Given the description of an element on the screen output the (x, y) to click on. 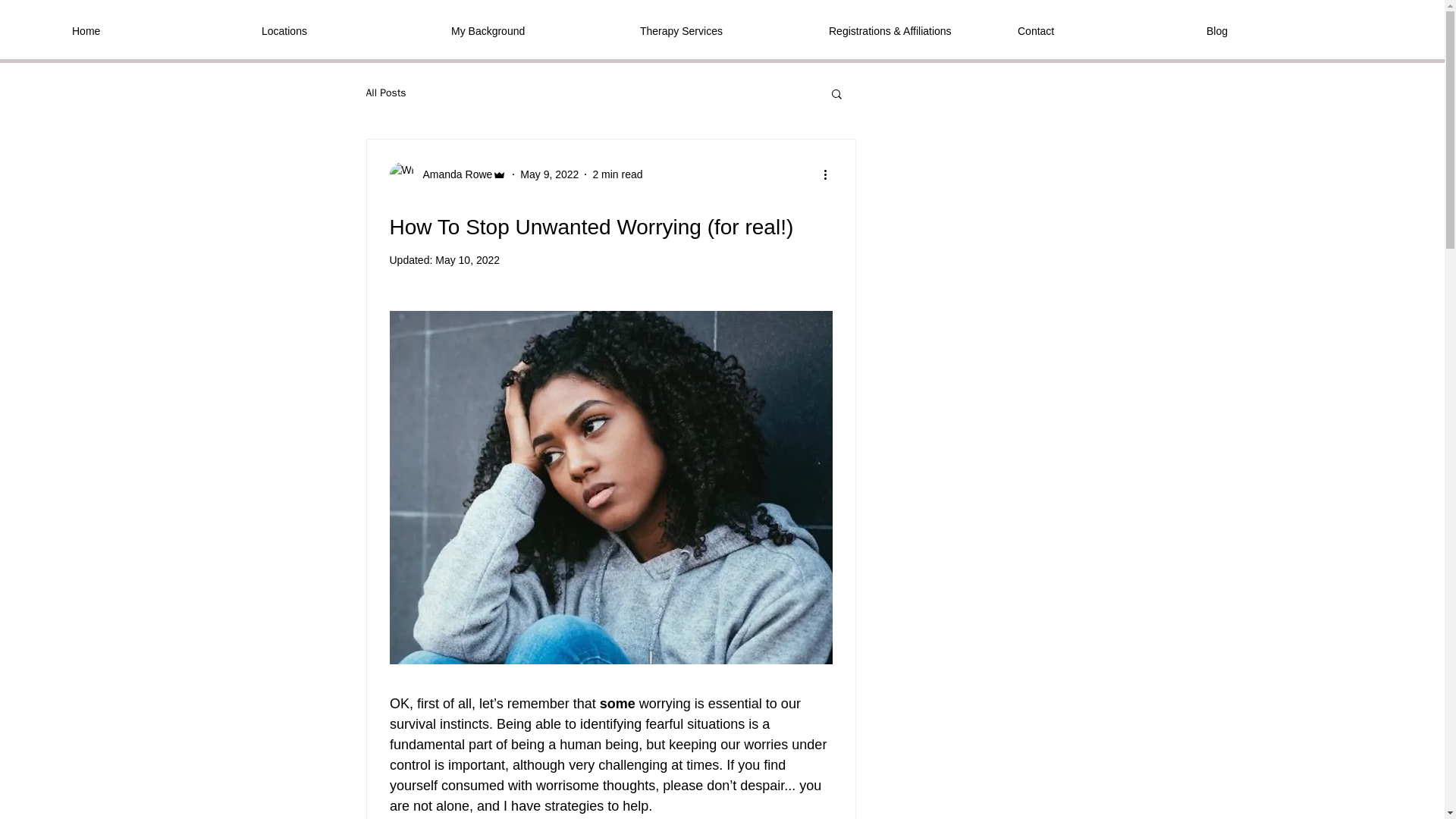
Contact (1100, 30)
Locations (344, 30)
Amanda Rowe (453, 174)
All Posts (385, 92)
Amanda Rowe (448, 174)
Home (155, 30)
My Background (533, 30)
Therapy Services (722, 30)
May 10, 2022 (467, 259)
2 min read (617, 174)
May 9, 2022 (548, 174)
Blog (1289, 30)
